Given the description of an element on the screen output the (x, y) to click on. 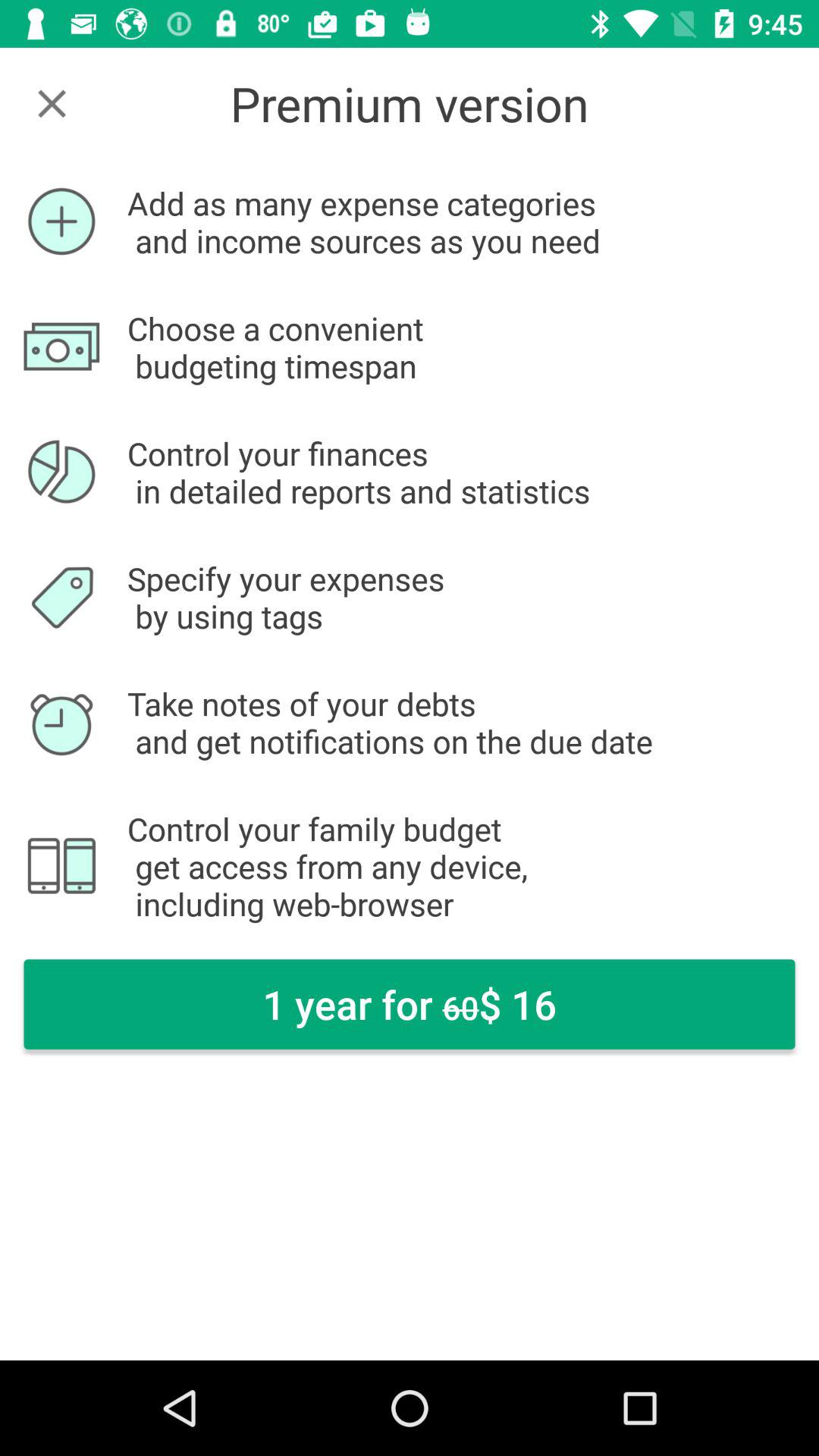
tap the item below control your family item (409, 1004)
